Given the description of an element on the screen output the (x, y) to click on. 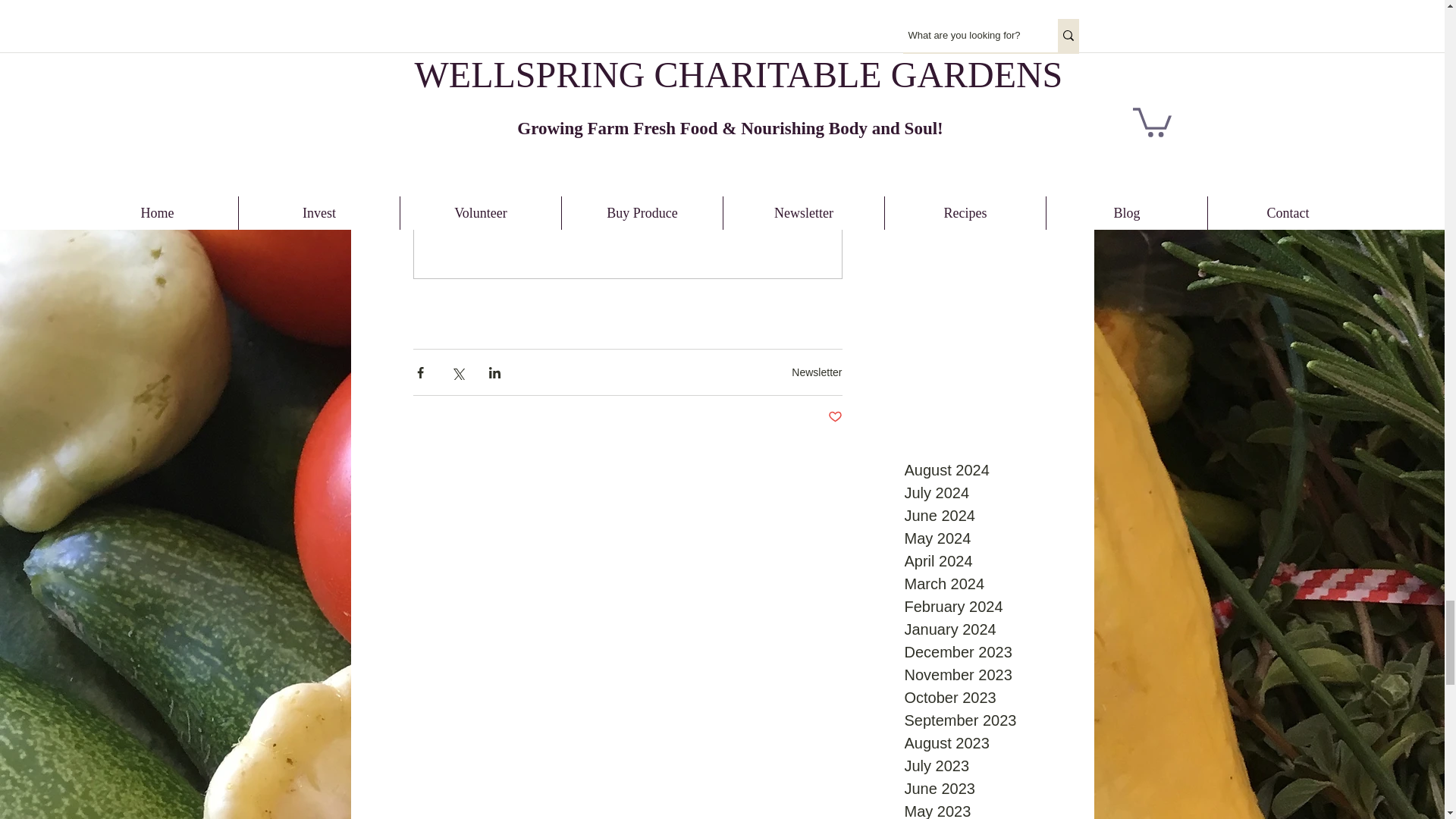
July 2023 (986, 765)
August 2023 (986, 743)
December 2023 (986, 651)
Post not marked as liked (835, 417)
February 2024 (986, 606)
April 2024 (986, 560)
January 2024 (986, 629)
June 2024 (986, 515)
Newsletter (816, 372)
May 2024 (986, 538)
